Given the description of an element on the screen output the (x, y) to click on. 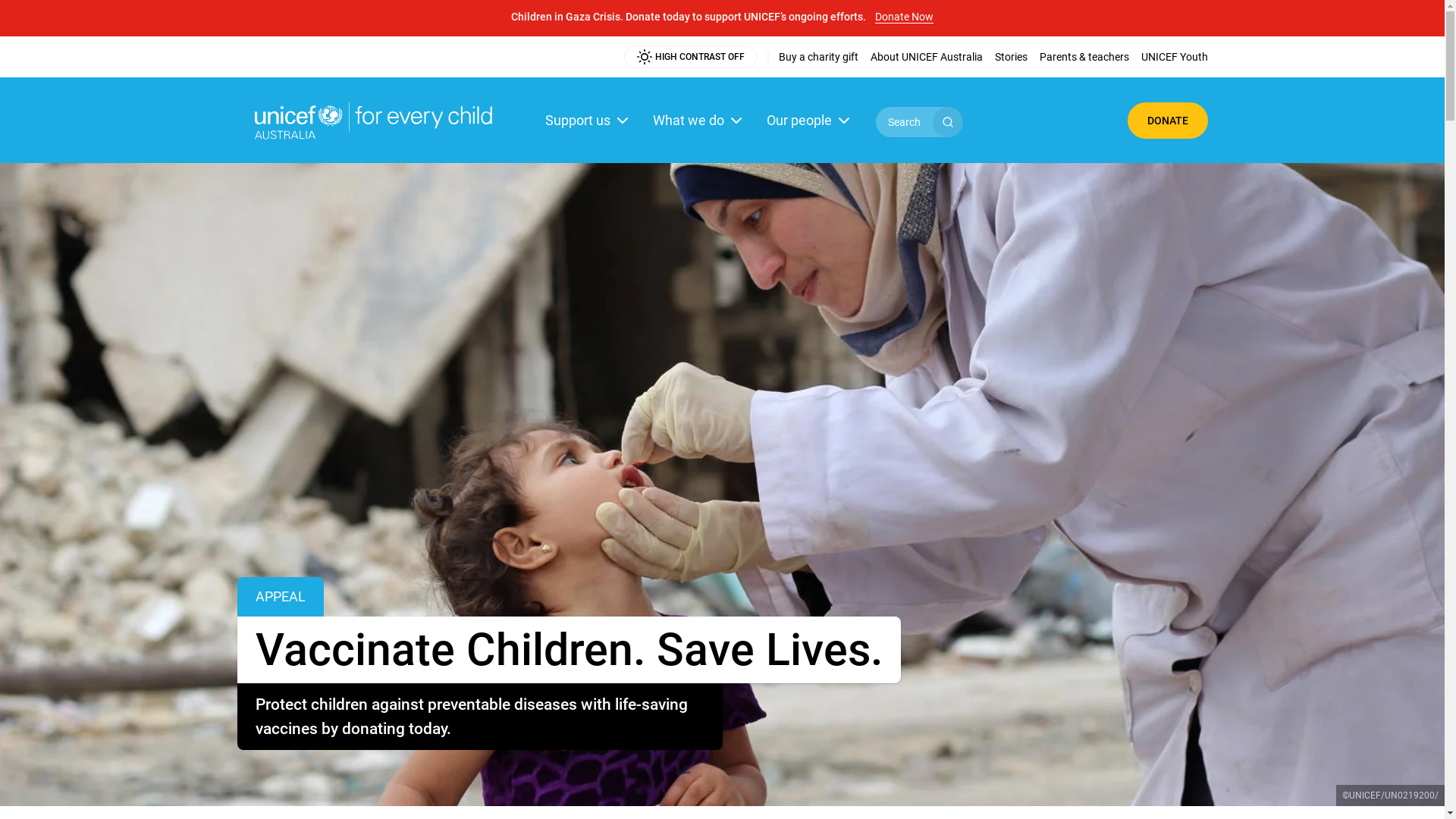
Our people Element type: text (808, 120)
Support us Element type: text (587, 120)
About UNICEF Australia Element type: text (926, 56)
Buy a charity gift Element type: text (817, 56)
Submit the search query. Element type: hover (947, 121)
Parents & teachers Element type: text (1083, 56)
UNICEF Youth Element type: text (1173, 56)
Donate Now Element type: text (904, 12)
Stories Element type: text (1010, 56)
What we do Element type: text (698, 120)
DONATE Element type: text (1166, 119)
HIGH CONTRAST OFF Element type: text (689, 56)
